Given the description of an element on the screen output the (x, y) to click on. 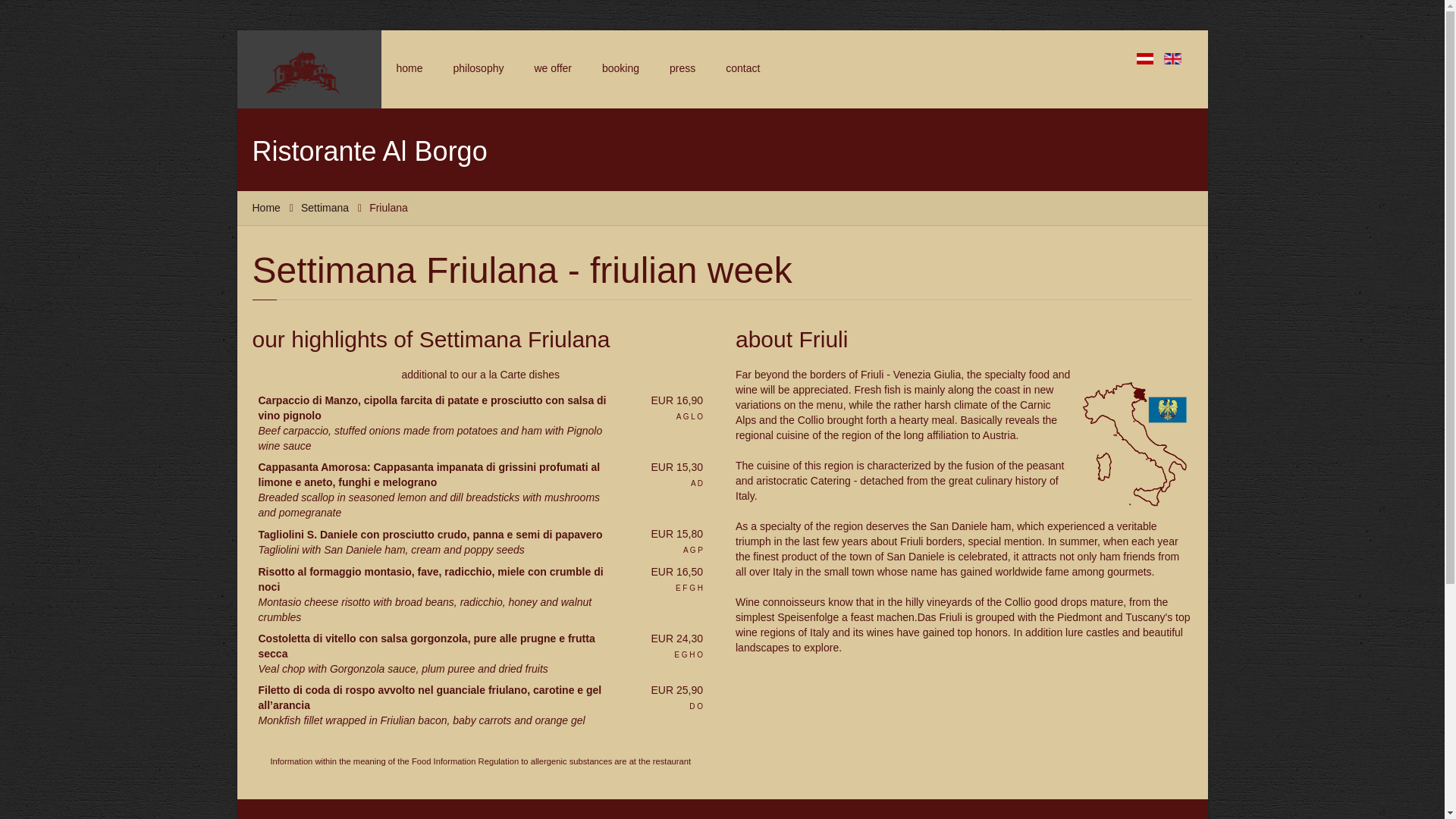
English (1171, 58)
Deutsch (1145, 58)
we offer (552, 68)
Settimana (325, 205)
booking (619, 68)
philosophy (478, 68)
Al Borgo Settimana Friulana (1135, 443)
press (681, 68)
contact (742, 68)
home (409, 68)
Home (266, 205)
